Given the description of an element on the screen output the (x, y) to click on. 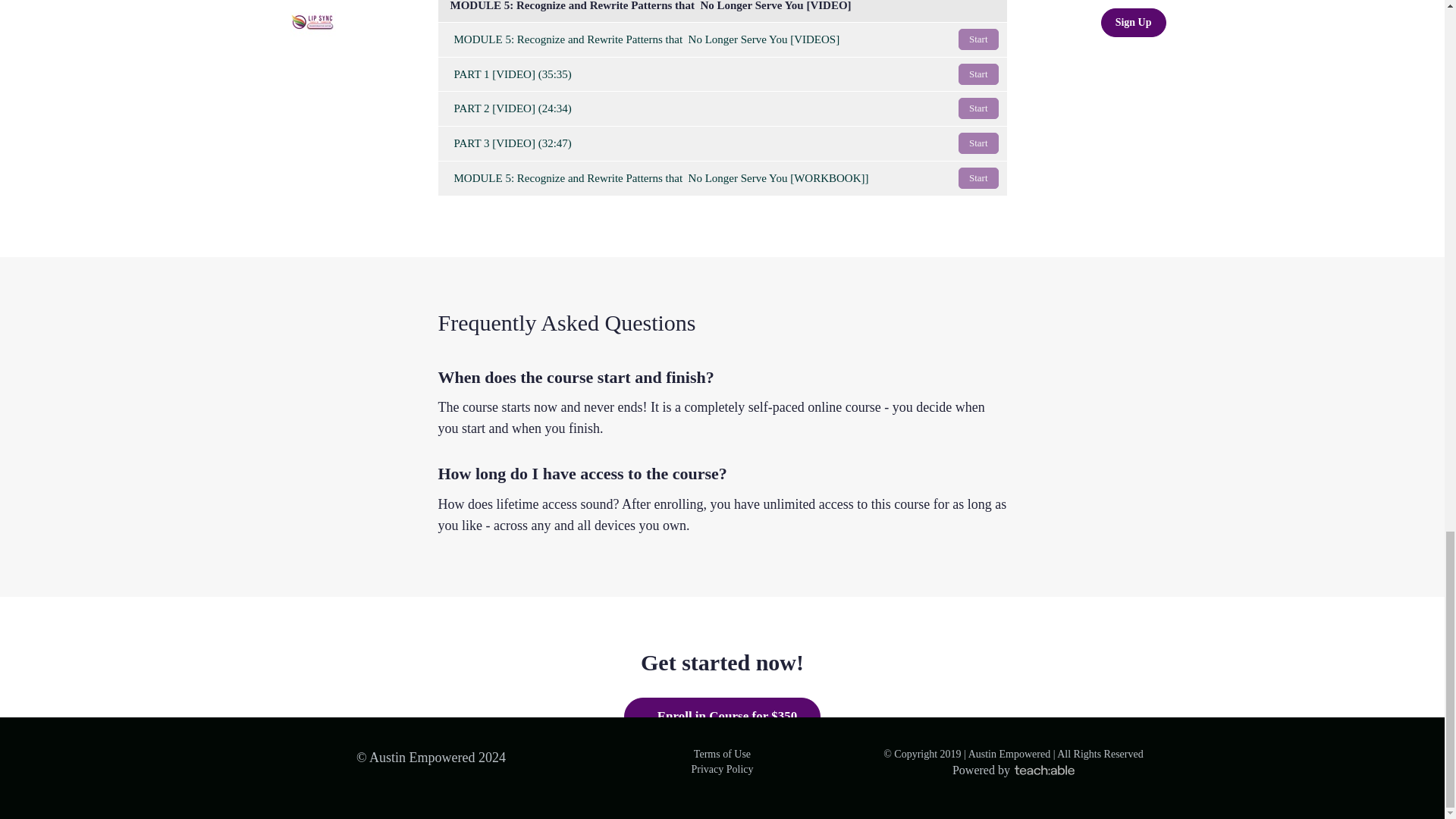
Powered by (1013, 769)
Terms of Use (722, 754)
Privacy Policy (721, 768)
